Given the description of an element on the screen output the (x, y) to click on. 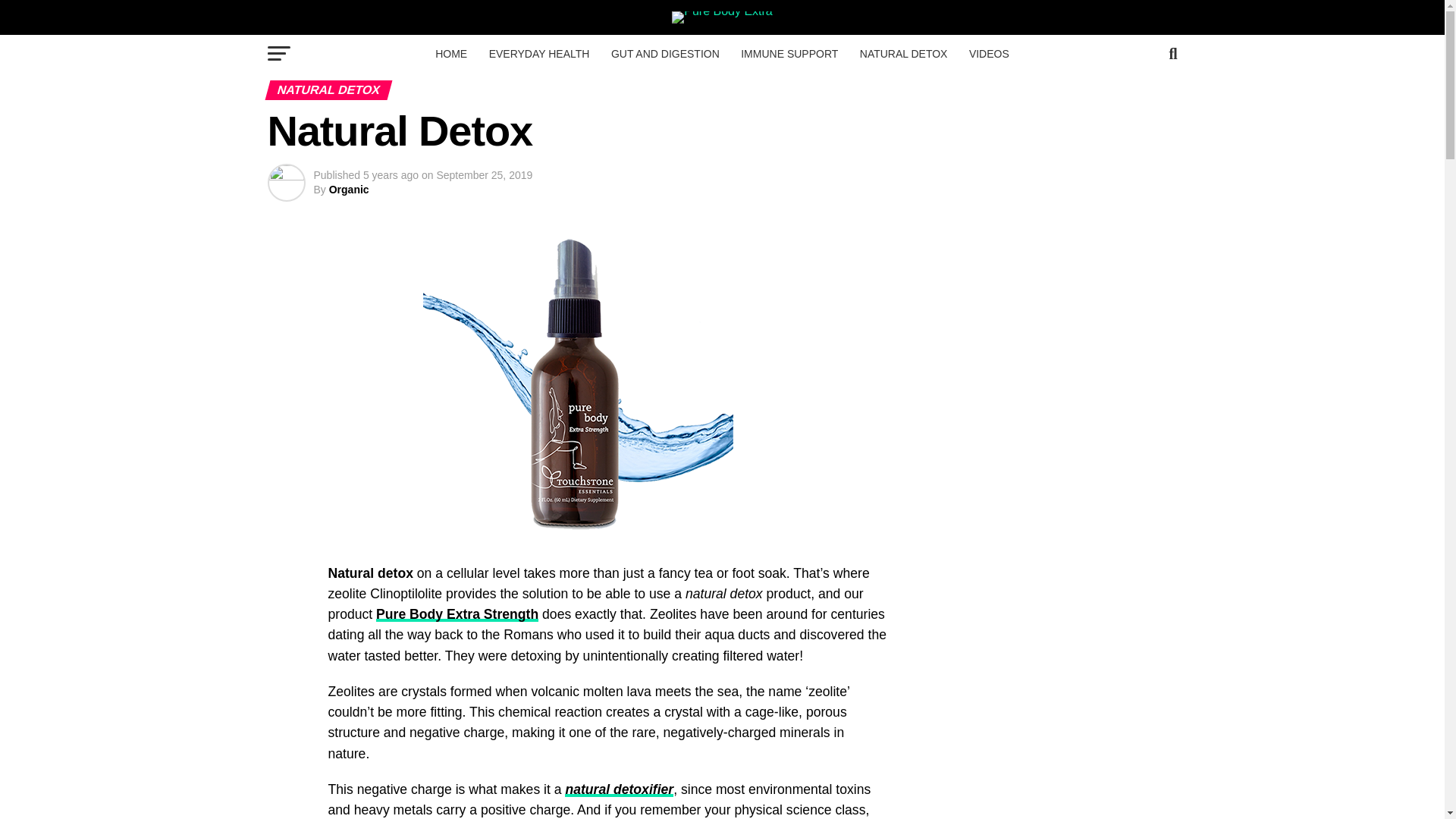
HOME (451, 53)
EVERYDAY HEALTH (539, 53)
Posts by Organic (349, 189)
GUT AND DIGESTION (665, 53)
IMMUNE SUPPORT (789, 53)
